Given the description of an element on the screen output the (x, y) to click on. 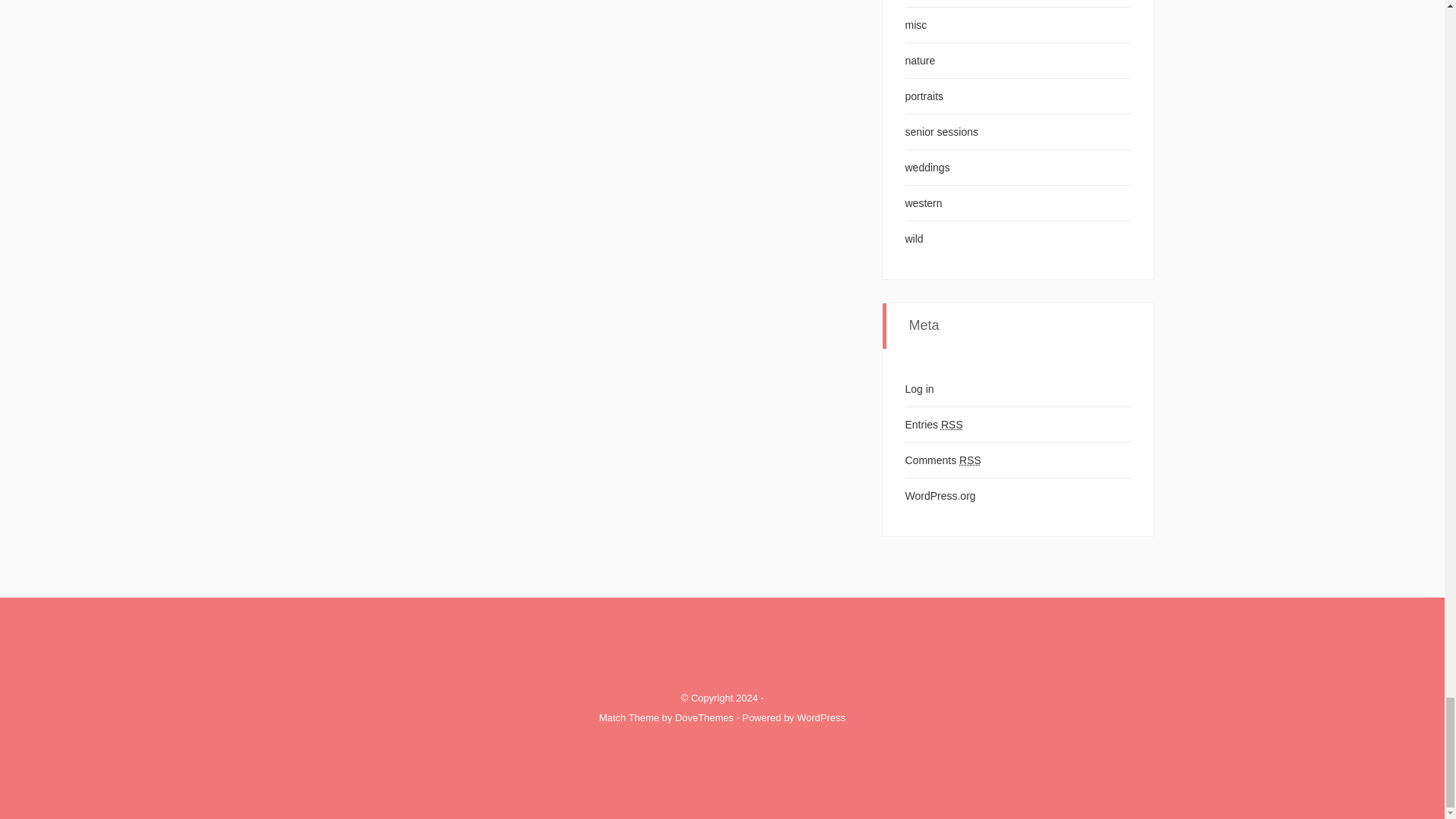
DoveThemes (704, 717)
Really Simple Syndication (970, 460)
Really Simple Syndication (951, 424)
WordPress (820, 717)
